Given the description of an element on the screen output the (x, y) to click on. 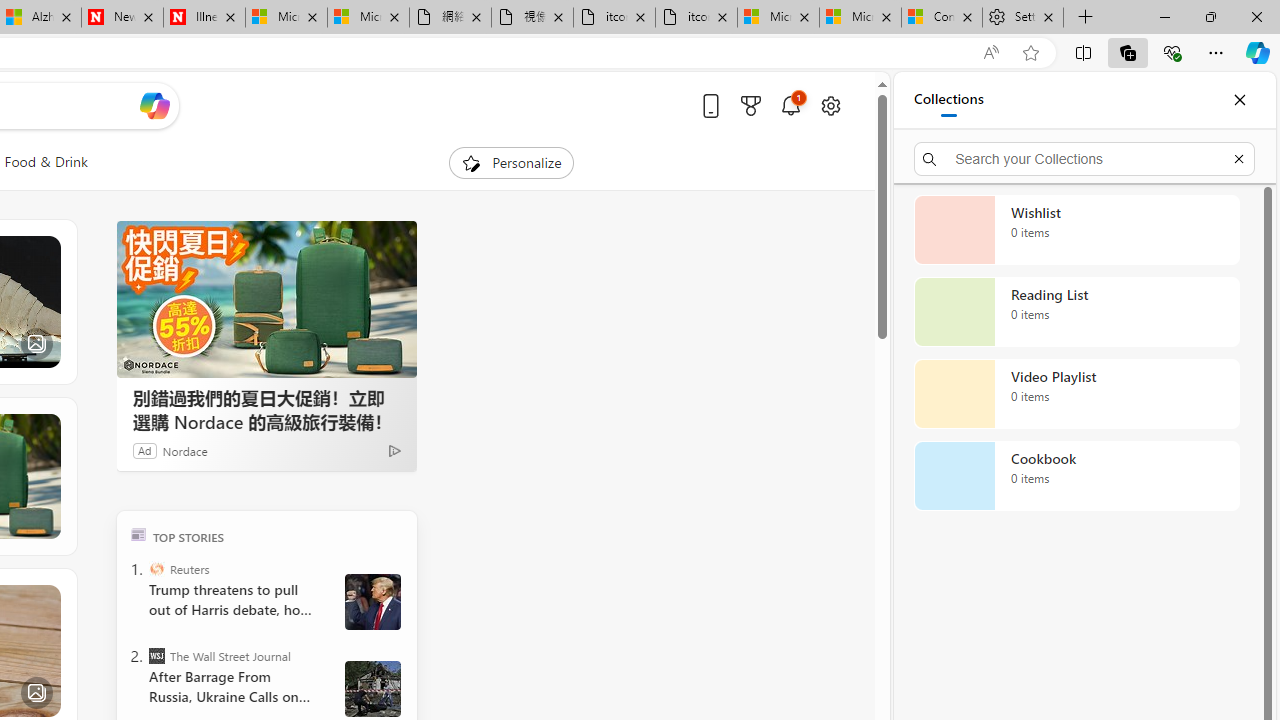
Reuters (156, 568)
Video Playlist collection, 0 items (1076, 394)
Illness news & latest pictures from Newsweek.com (203, 17)
Cookbook collection, 0 items (1076, 475)
